Given the description of an element on the screen output the (x, y) to click on. 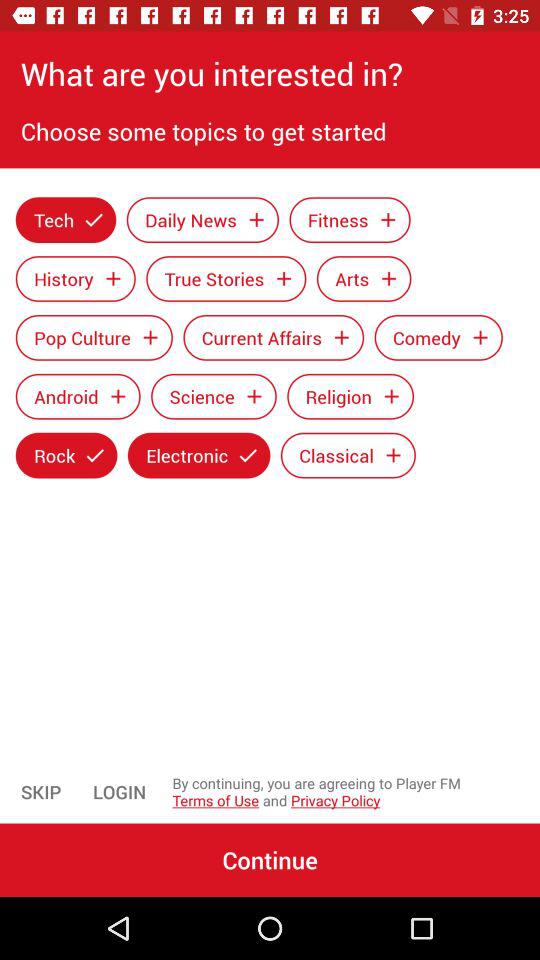
open the icon above the continue icon (119, 791)
